Given the description of an element on the screen output the (x, y) to click on. 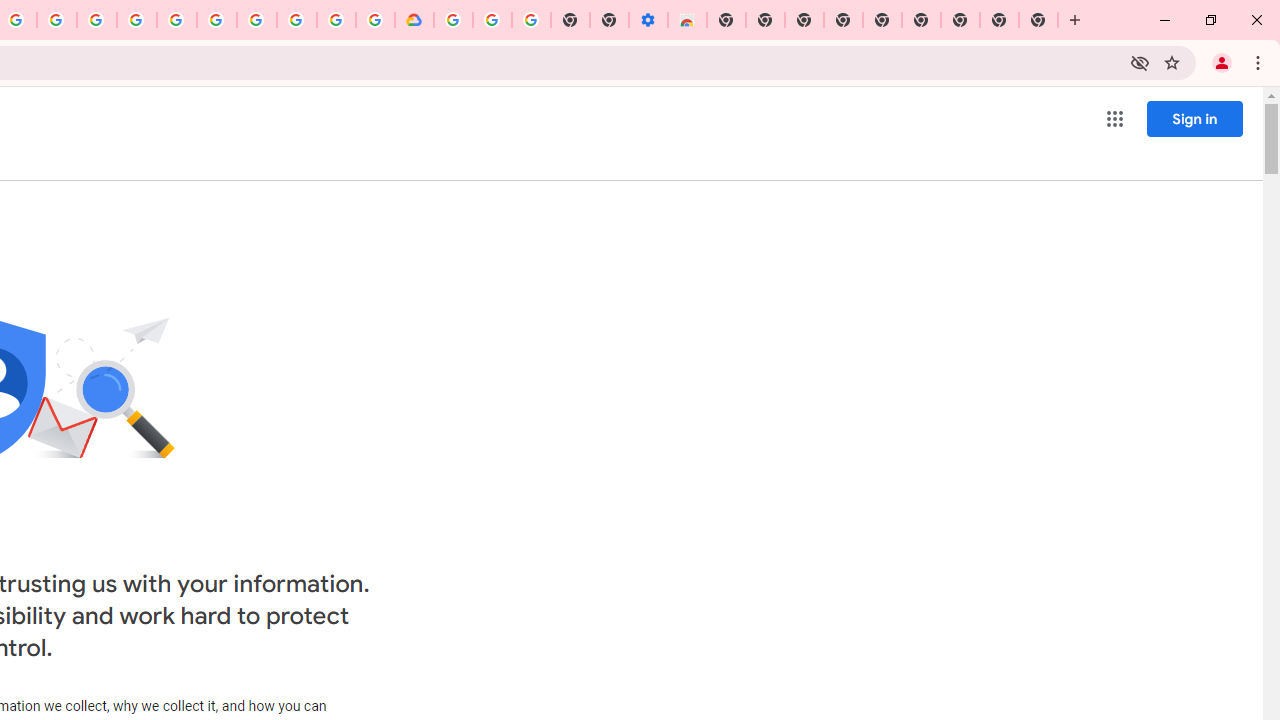
Create your Google Account (336, 20)
Google Account Help (491, 20)
New Tab (1038, 20)
Google Account Help (256, 20)
Close (1256, 20)
New Tab (726, 20)
Sign in (1194, 118)
Third-party cookies blocked (1139, 62)
Settings - Accessibility (648, 20)
You (1221, 62)
